Given the description of an element on the screen output the (x, y) to click on. 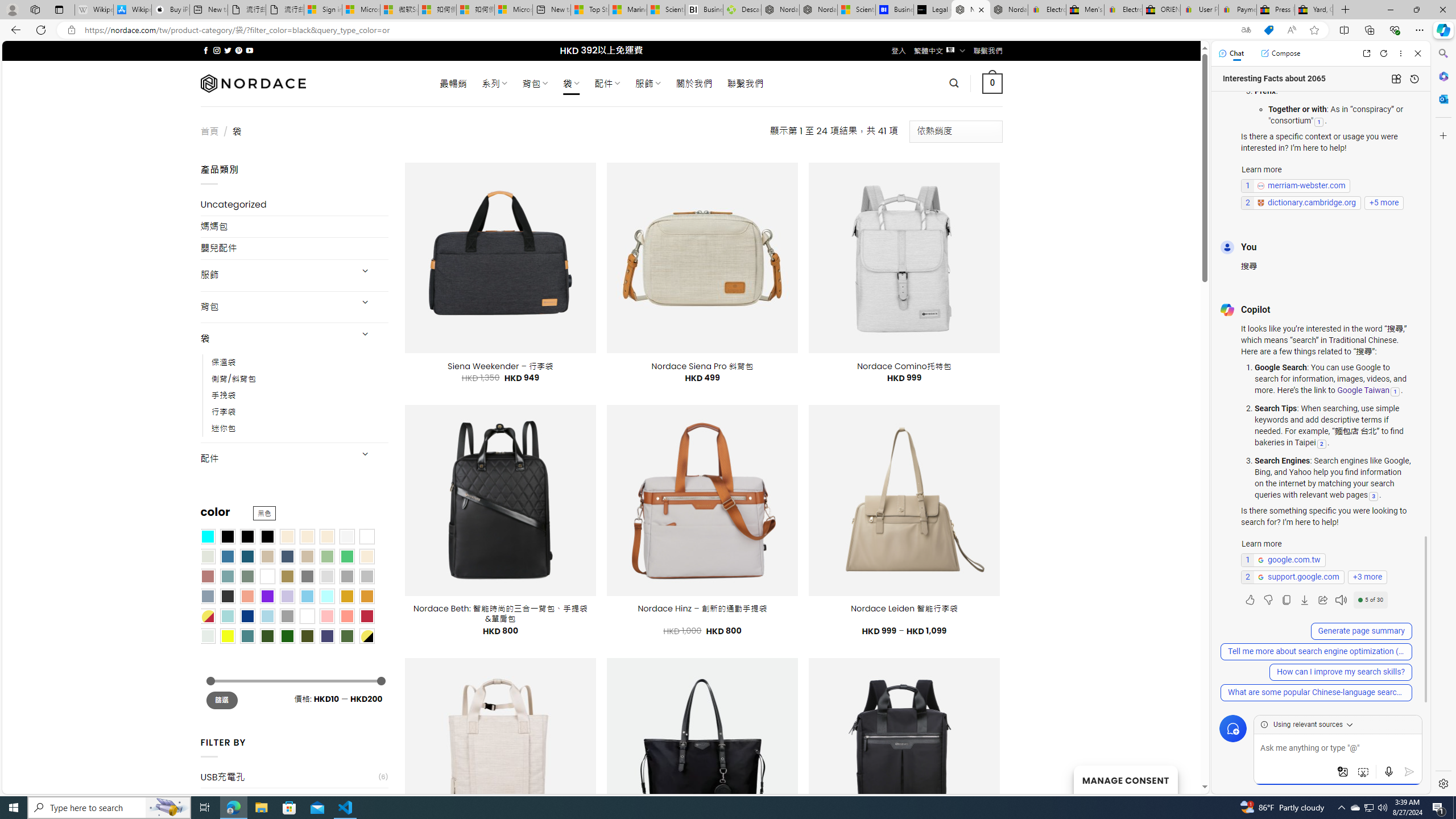
  0   (992, 83)
This site has coupons! Shopping in Microsoft Edge (1268, 29)
Press Room - eBay Inc. (1276, 9)
Follow on Twitter (227, 50)
